Given the description of an element on the screen output the (x, y) to click on. 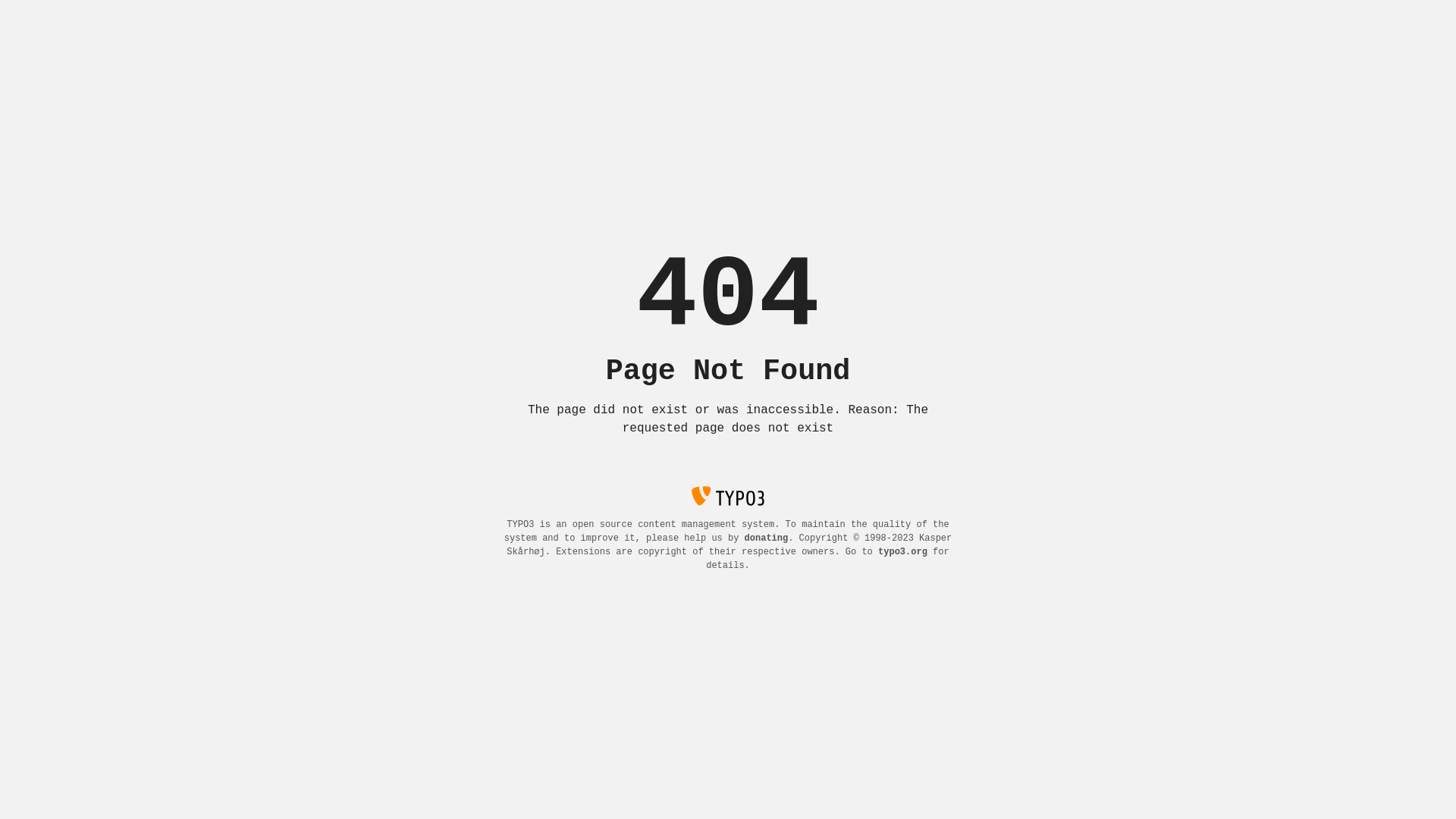
typo3.org Element type: text (902, 551)
donating Element type: text (766, 538)
